Given the description of an element on the screen output the (x, y) to click on. 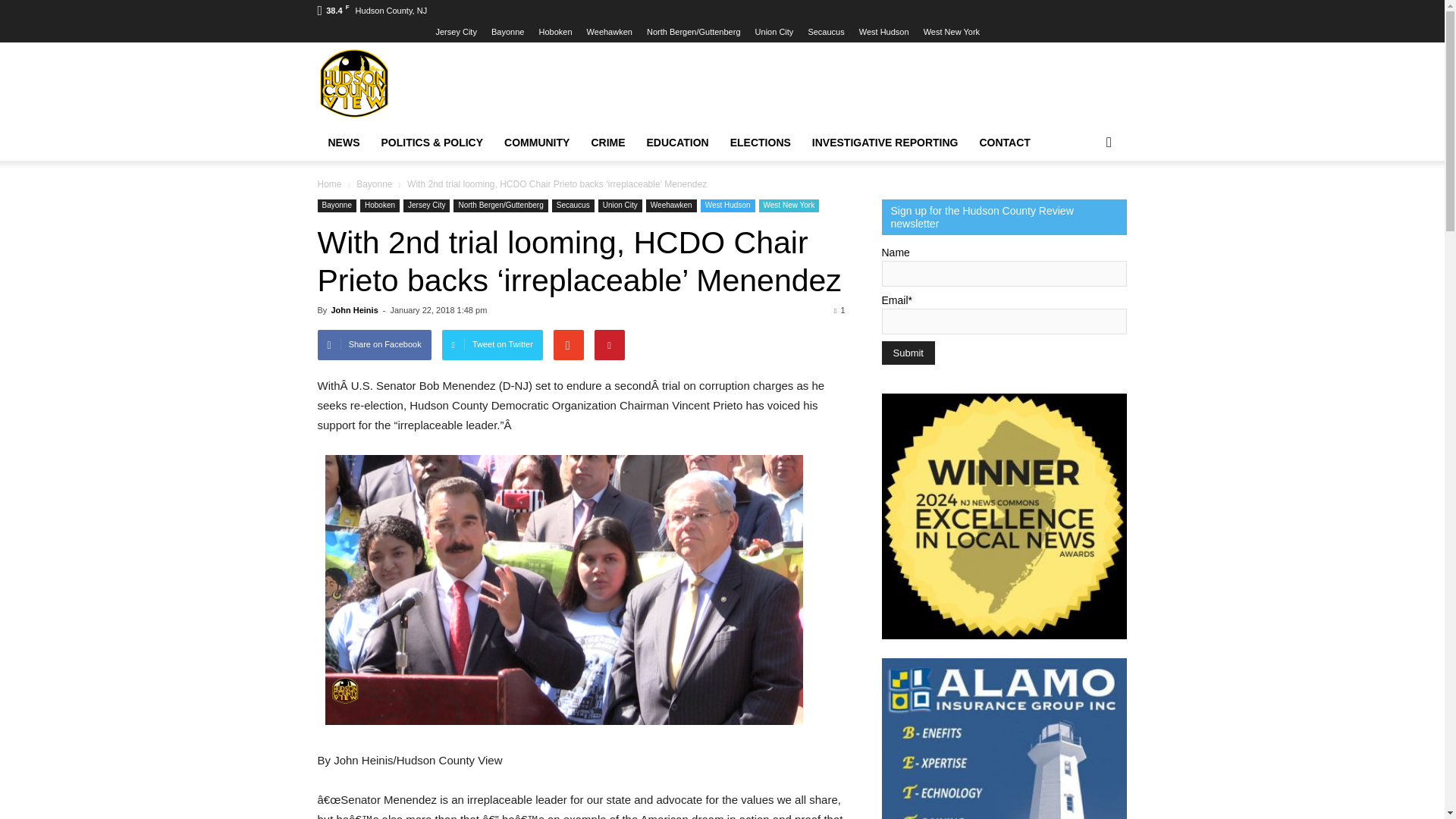
CONTACT (1005, 142)
Weehawken (608, 31)
Hoboken (555, 31)
Jersey City (455, 31)
Submit (907, 352)
Bayonne (508, 31)
Secaucus (826, 31)
EDUCATION (677, 142)
INVESTIGATIVE REPORTING (885, 142)
COMMUNITY (536, 142)
View all posts in Bayonne (375, 184)
West Hudson (883, 31)
NEWS (343, 142)
Union City (774, 31)
ELECTIONS (760, 142)
